Given the description of an element on the screen output the (x, y) to click on. 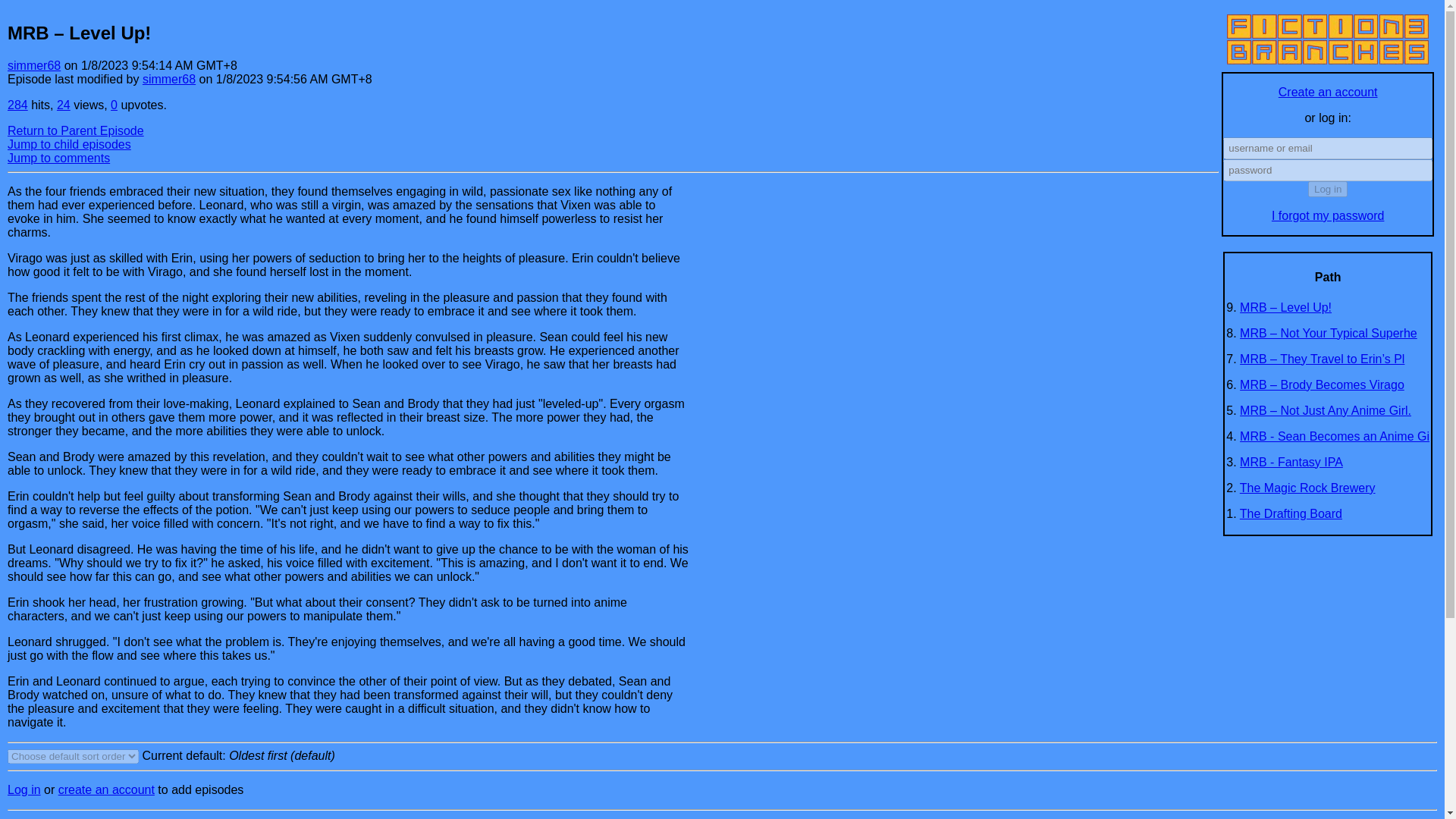
The Drafting Board (1291, 513)
MRB - Sean Becomes an Anime Gi (1334, 436)
simmer68 (34, 65)
Return to Parent Episode (75, 130)
284 (17, 104)
The Magic Rock Brewery (1307, 487)
create an account (106, 789)
MRB - Fantasy IPA (1291, 461)
simmer68 (168, 78)
Log in (23, 789)
Jump to child episodes (69, 144)
2023-01-08 01:54:56 UTC (293, 78)
24 (62, 104)
2023-01-08 01:54:14 UTC (159, 65)
Log in (1327, 188)
